Given the description of an element on the screen output the (x, y) to click on. 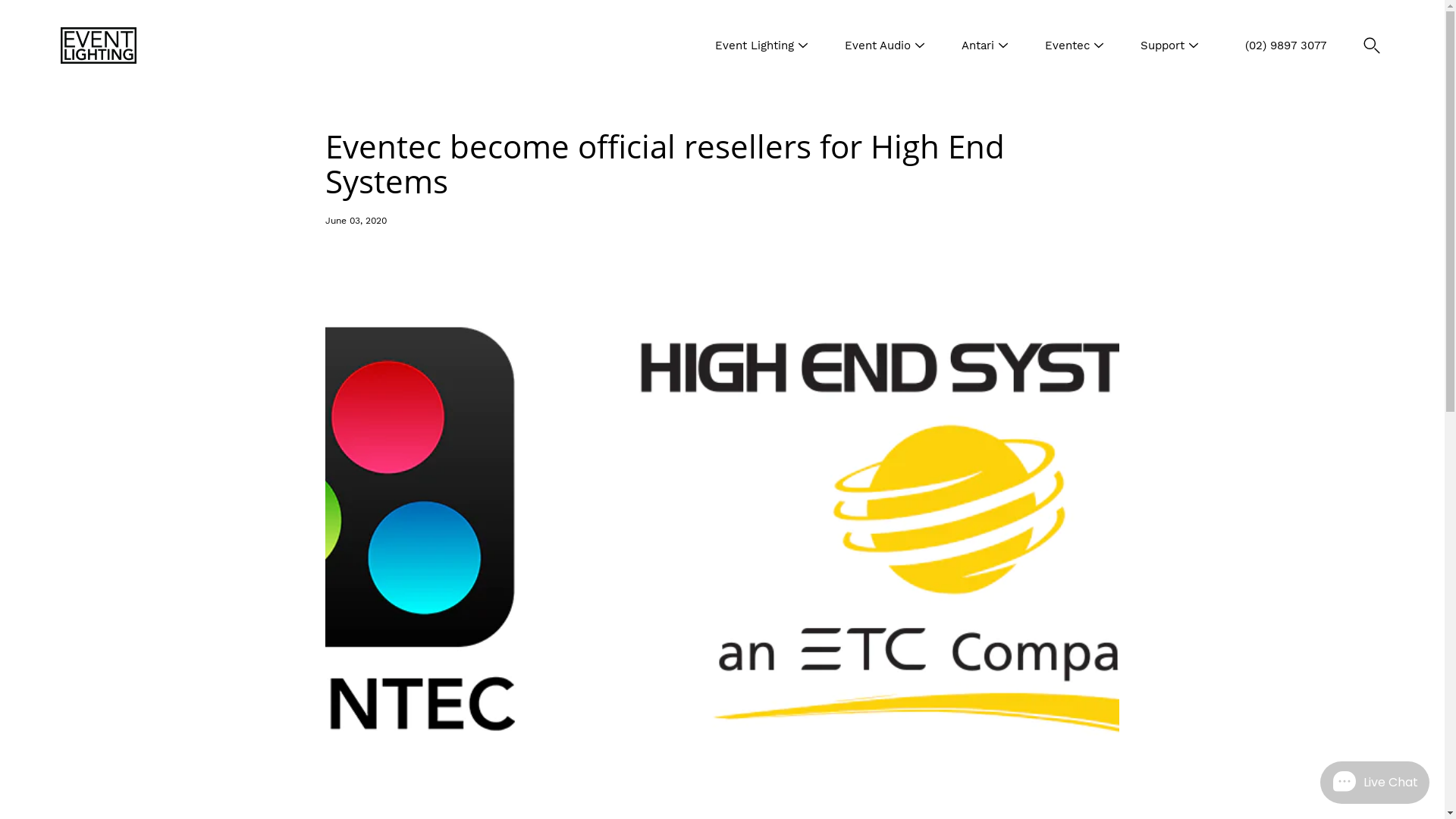
Support Element type: text (1162, 45)
Antari Element type: text (977, 45)
Eventec Element type: text (1066, 45)
Event Lighting Element type: text (754, 45)
Event Audio Element type: text (877, 45)
